Given the description of an element on the screen output the (x, y) to click on. 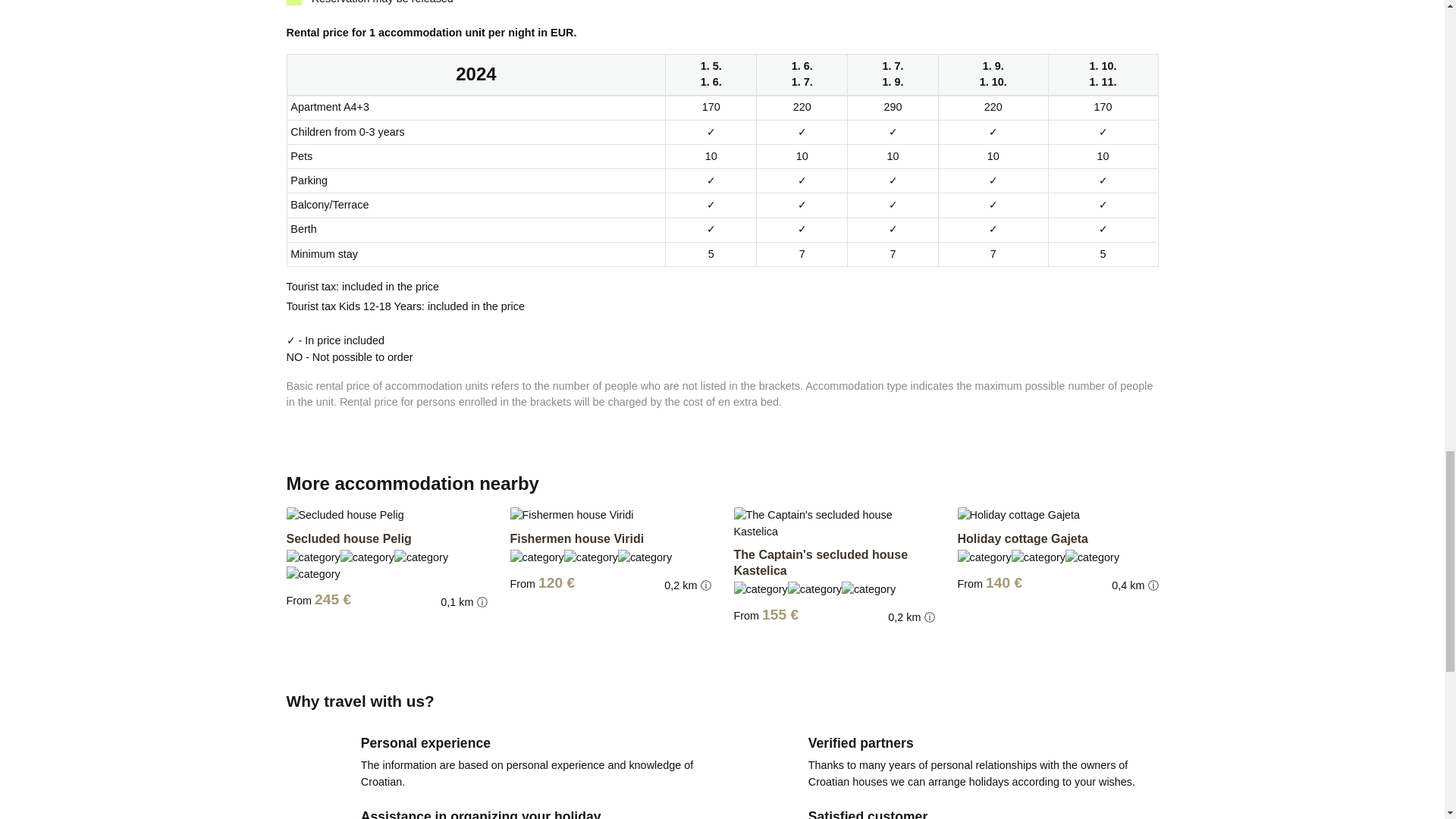
Secluded house Pelig (349, 538)
Holiday cottage Gajeta (1021, 538)
The Captain's secluded house Kastelica (820, 562)
Fishermen house Viridi (576, 538)
